Given the description of an element on the screen output the (x, y) to click on. 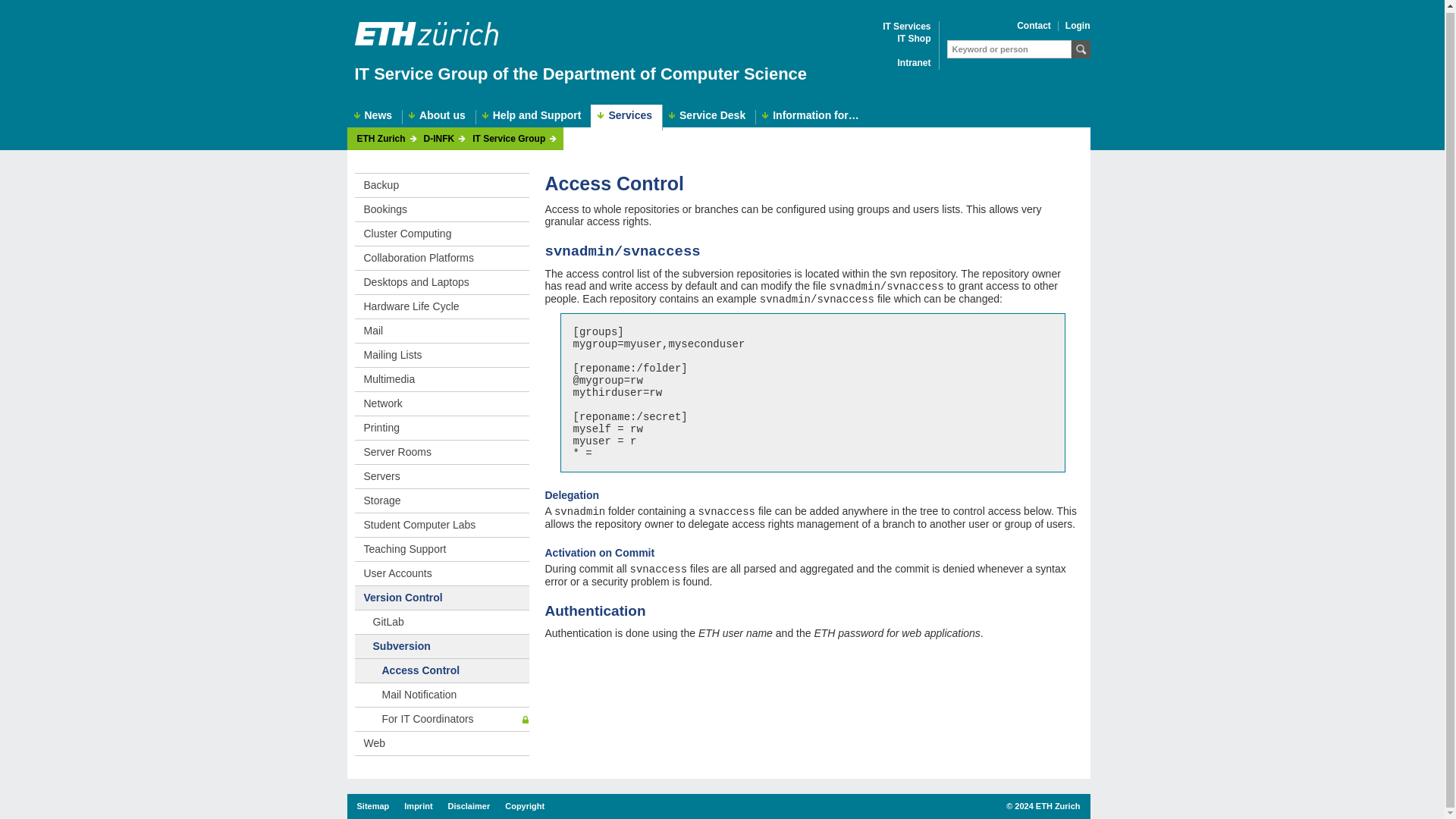
Services (626, 117)
IT Services (906, 26)
News (375, 116)
Intranet (913, 62)
Help and Support (534, 116)
IT Service Group of the Department of Computer Science (581, 73)
Login (1077, 26)
IT Shop (914, 39)
About us (438, 116)
Contact (1033, 26)
